Given the description of an element on the screen output the (x, y) to click on. 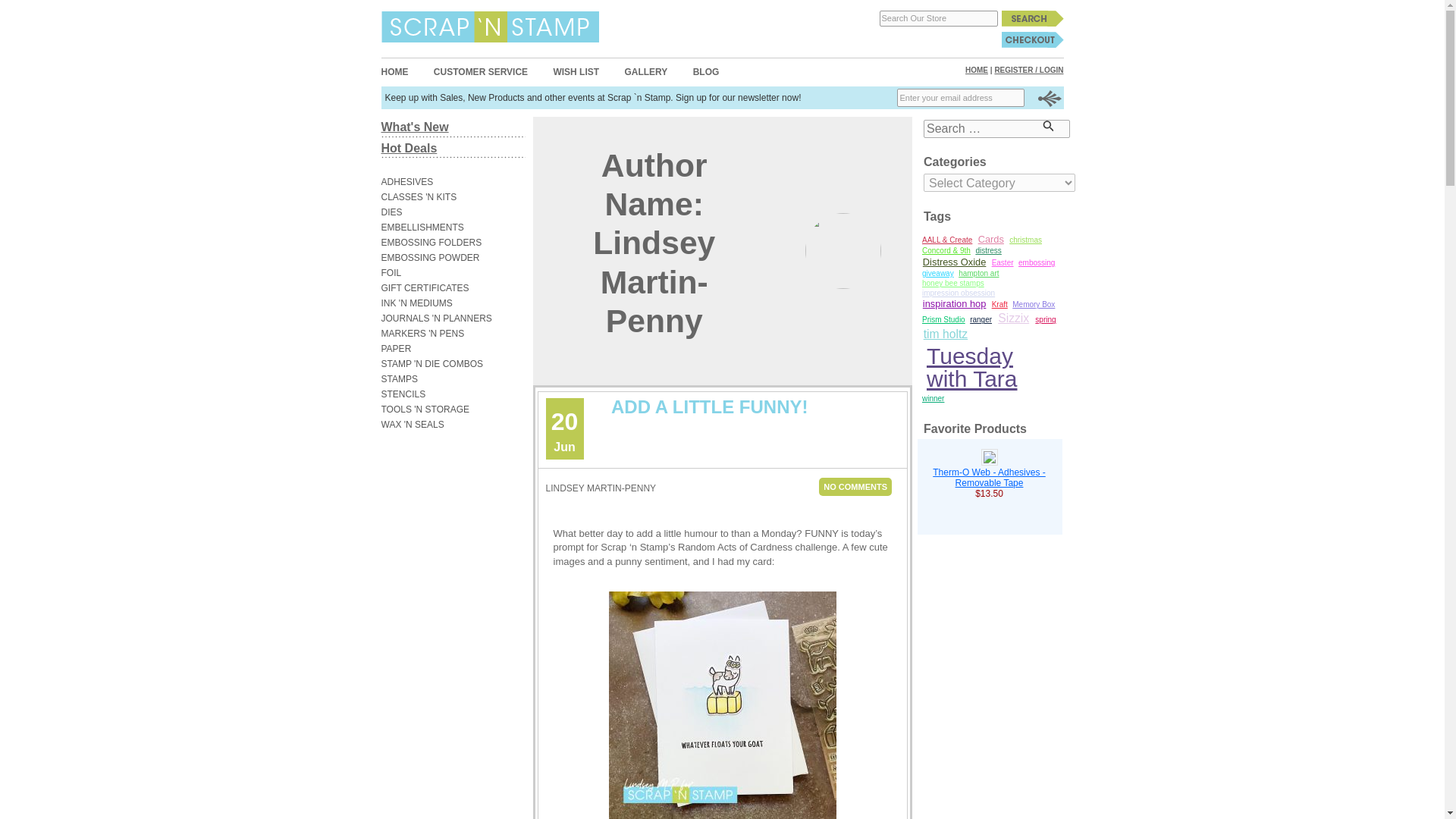
HOME (976, 70)
Search (1031, 18)
1 topic (1025, 239)
1 topic (938, 273)
HOME (393, 71)
1 topic (1036, 262)
CUSTOMER SERVICE (480, 71)
1 topic (946, 251)
1 topic (958, 293)
2 topics (991, 239)
WISH LIST (575, 71)
Enter your email address (959, 97)
1 topic (947, 239)
1 topic (953, 283)
Search Our Store (938, 18)
